Given the description of an element on the screen output the (x, y) to click on. 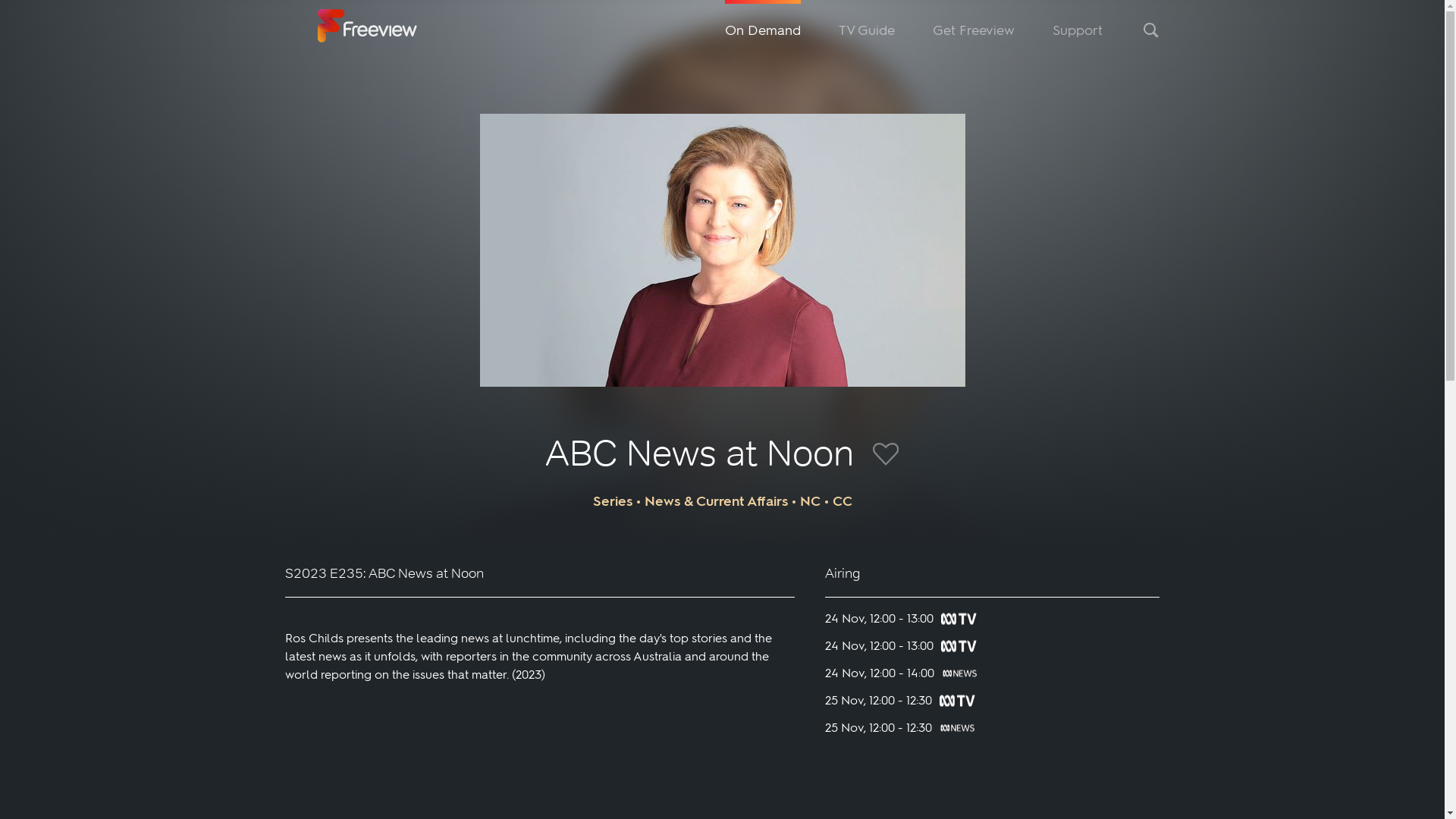
TV Guide Element type: text (866, 30)
Get Freeview Element type: text (973, 30)
Support Element type: text (1077, 30)
On Demand Element type: text (762, 30)
